Given the description of an element on the screen output the (x, y) to click on. 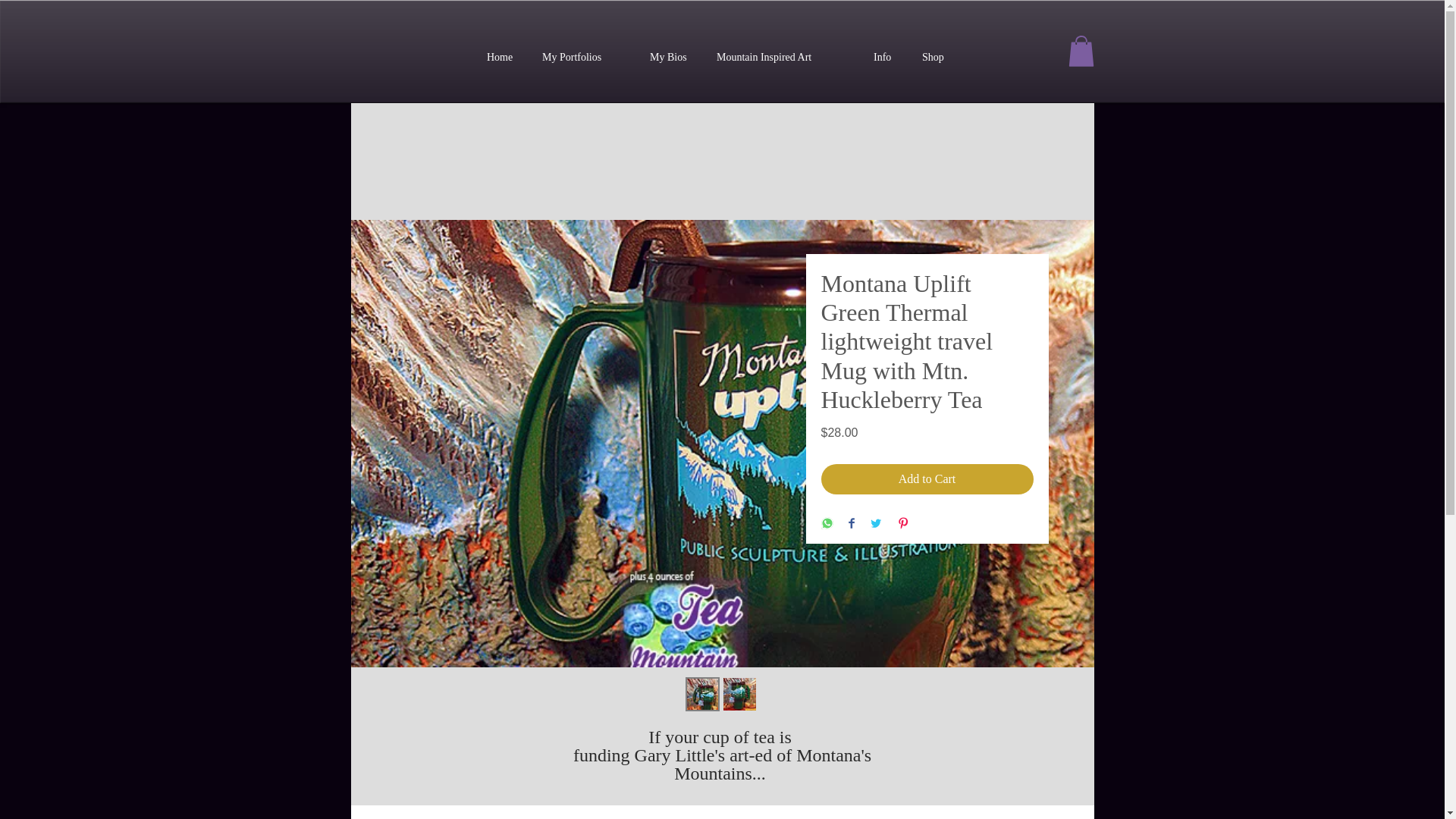
Info (886, 57)
Home (503, 57)
My Portfolios (585, 57)
Add to Cart (926, 479)
Shop (935, 57)
